Given the description of an element on the screen output the (x, y) to click on. 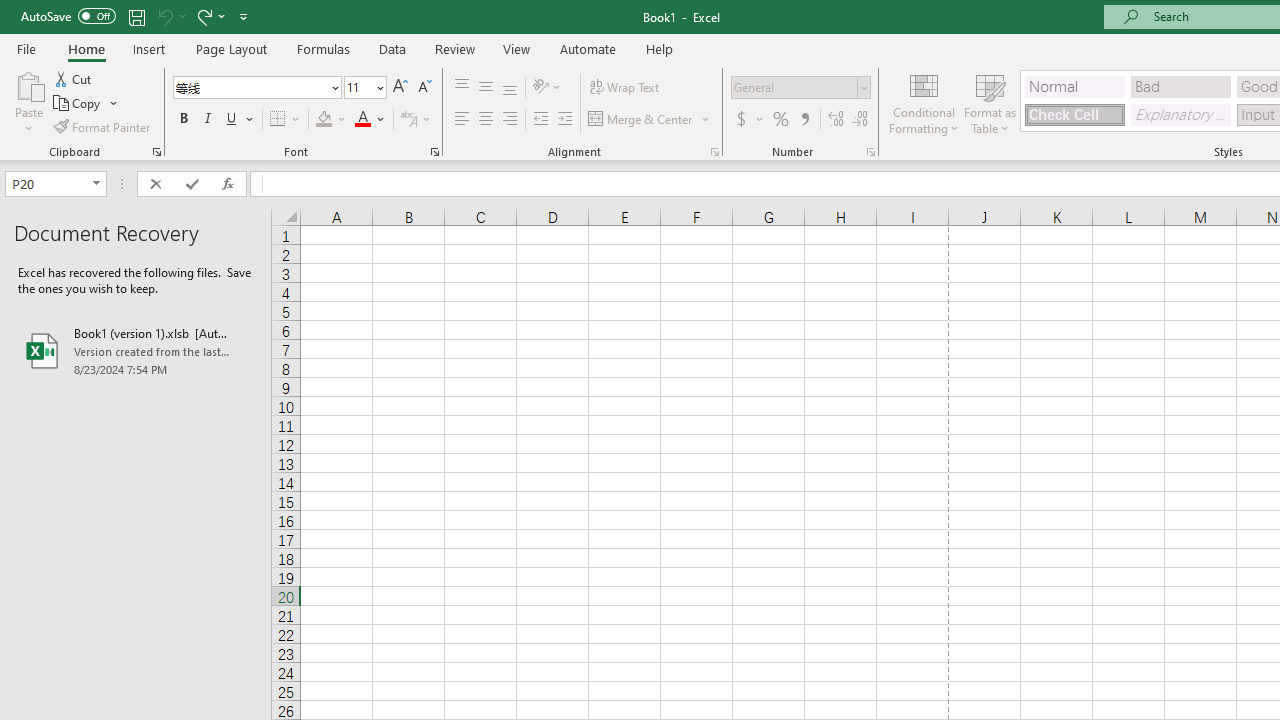
Orientation (547, 87)
Format Cell Font (434, 151)
Font Size (365, 87)
Formulas (323, 48)
Accounting Number Format (749, 119)
Bottom Border (278, 119)
Check Cell (1074, 114)
Redo (209, 15)
Accounting Number Format (741, 119)
Show Phonetic Field (408, 119)
Font Color (370, 119)
Font Color RGB(255, 0, 0) (362, 119)
Font (256, 87)
Merge & Center (649, 119)
Copy (78, 103)
